Given the description of an element on the screen output the (x, y) to click on. 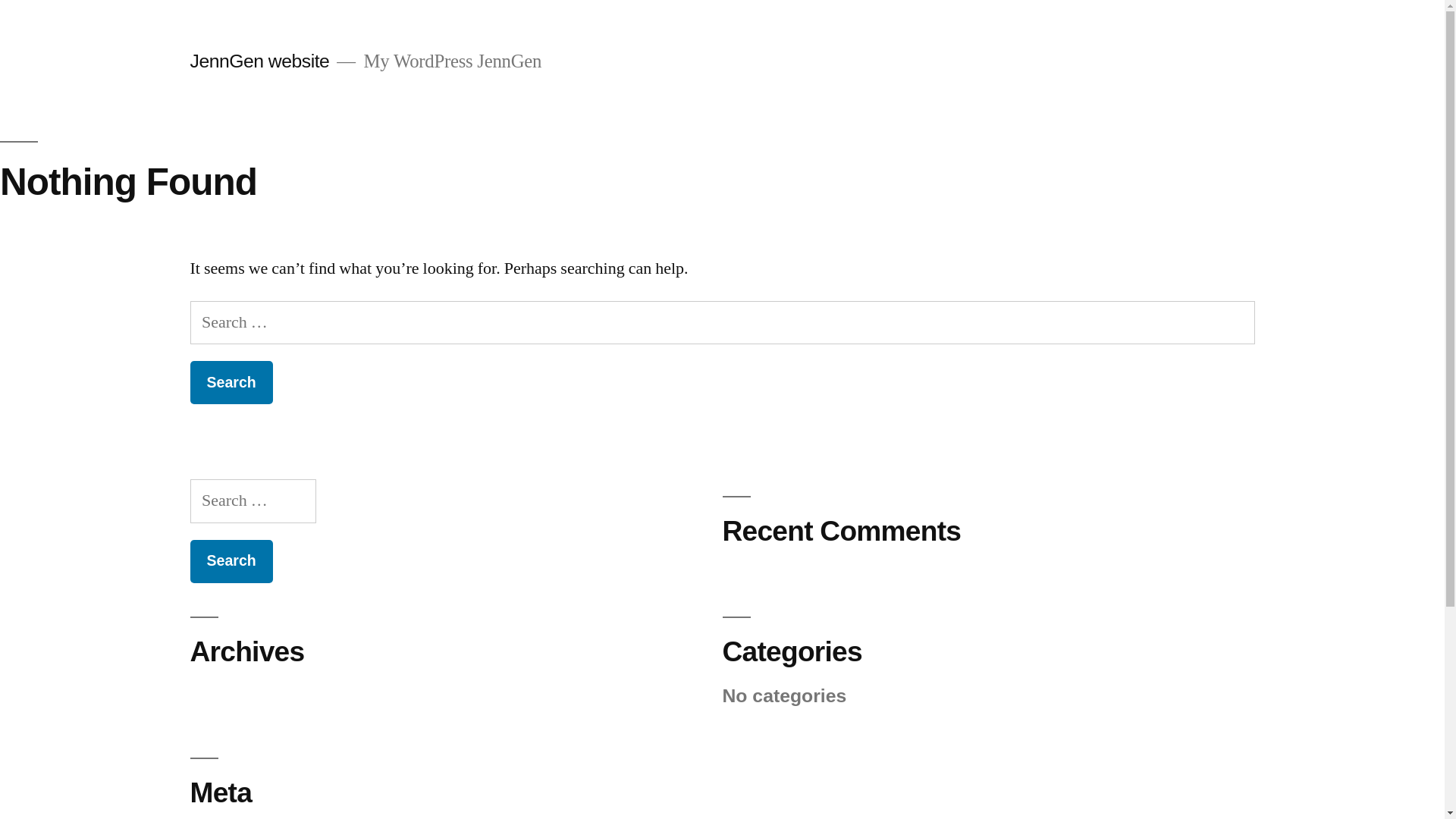
JennGen website Element type: text (259, 60)
Search Element type: text (230, 561)
Search Element type: text (230, 382)
